Given the description of an element on the screen output the (x, y) to click on. 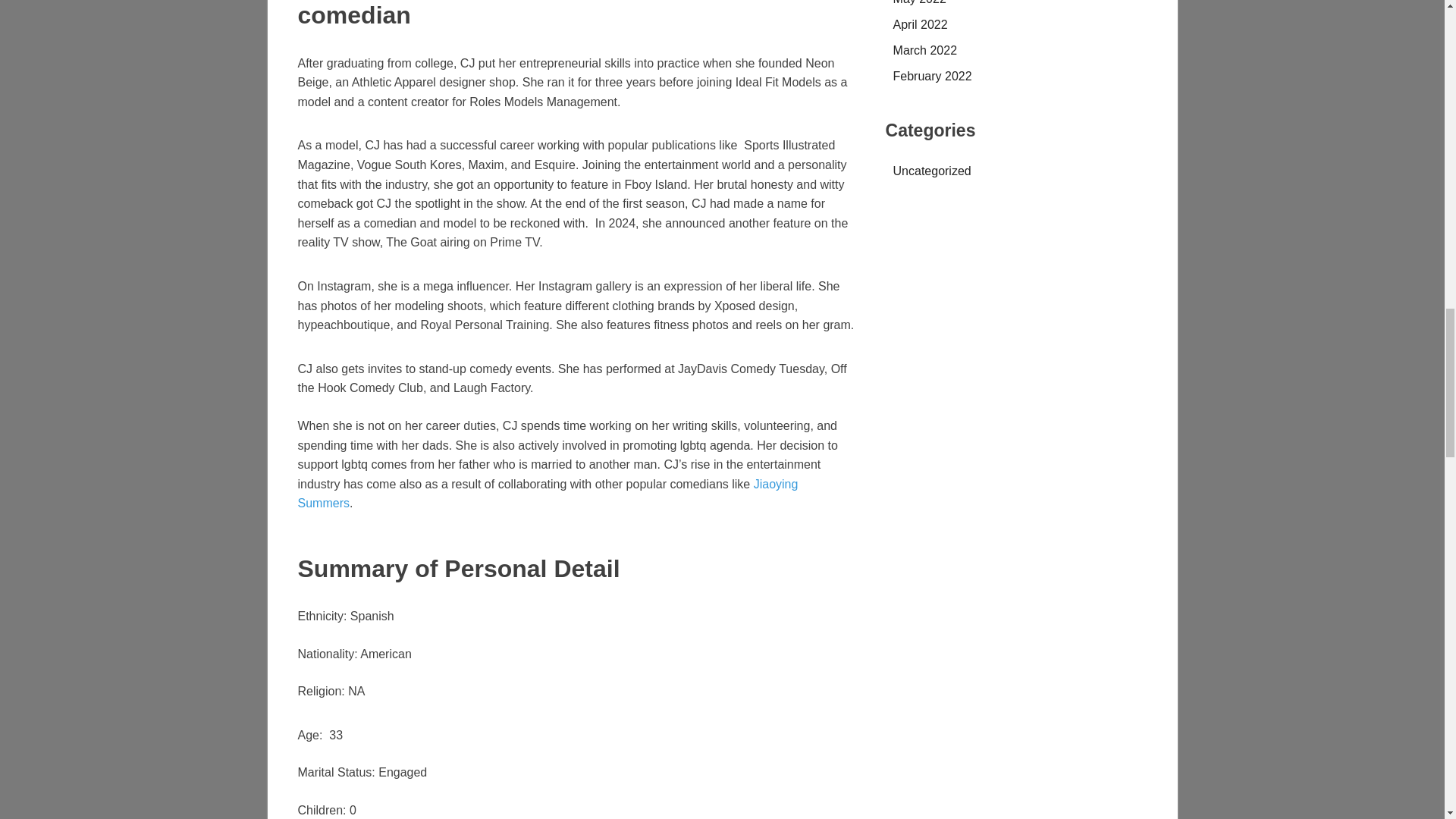
Jiaoying Summers (547, 493)
